Given the description of an element on the screen output the (x, y) to click on. 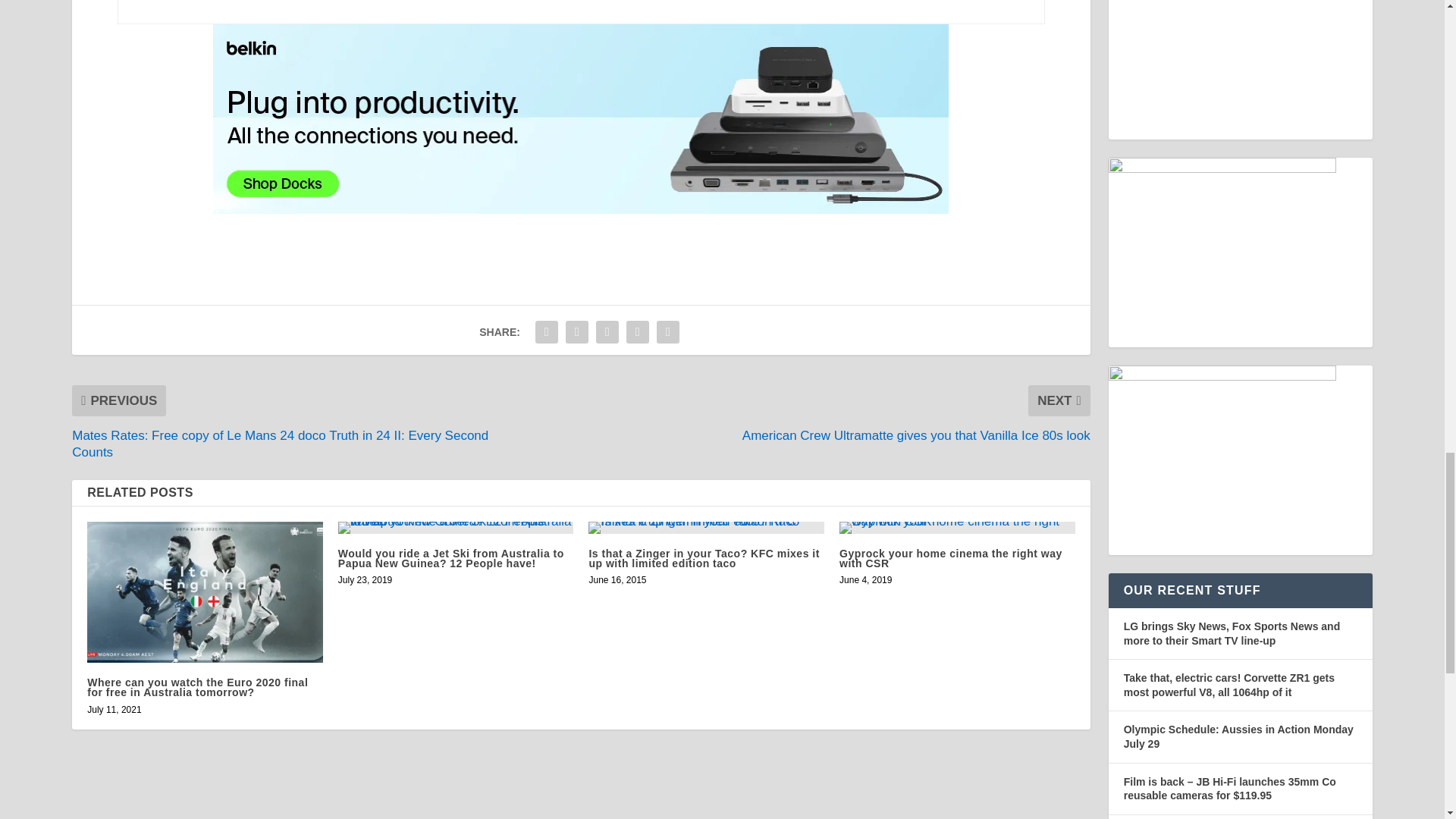
Gyprock your home cinema the right way with CSR (957, 527)
